Given the description of an element on the screen output the (x, y) to click on. 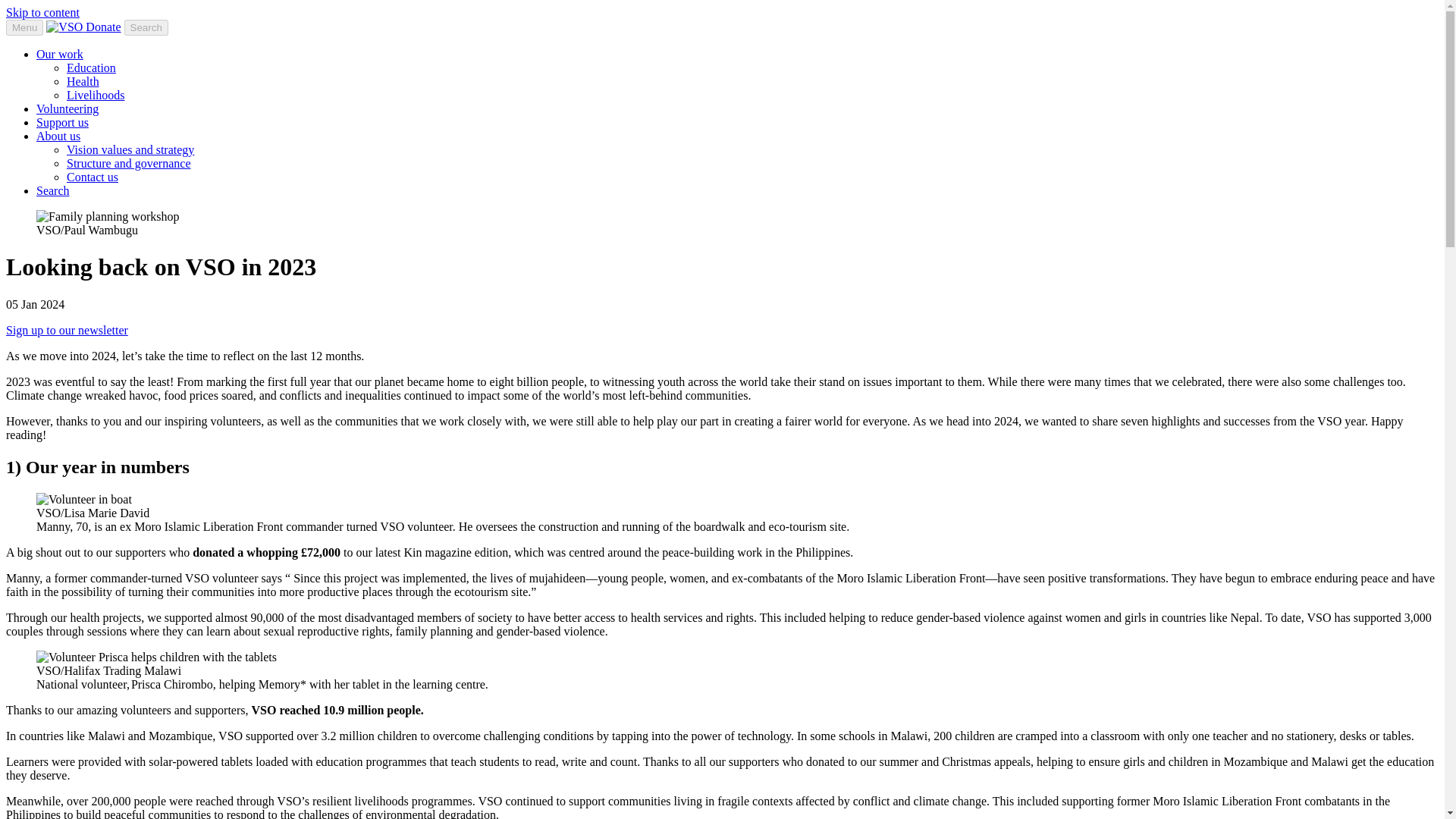
Our work (59, 53)
Donate (102, 26)
Search (145, 27)
About us (58, 135)
Health (82, 81)
Vision values and strategy (129, 149)
Skip to content (42, 11)
Volunteering (67, 108)
Menu (24, 27)
Sign up to our newsletter (66, 329)
Search (52, 190)
Structure and governance (128, 163)
Education (91, 67)
Home (65, 26)
Contact us (91, 176)
